Given the description of an element on the screen output the (x, y) to click on. 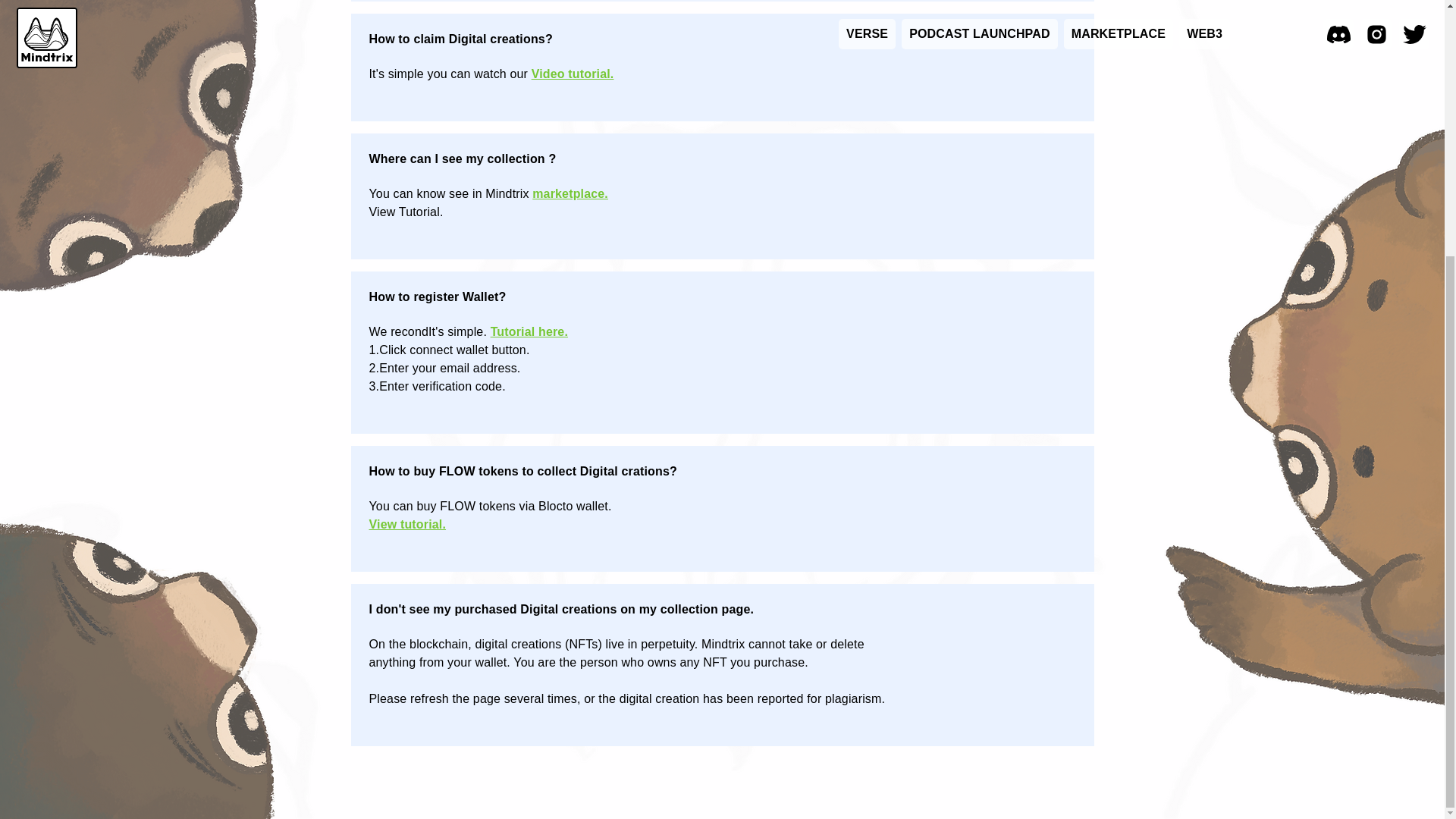
marketplace. (570, 193)
View tutorial. (406, 523)
Video tutorial. (572, 73)
Tutorial here. (528, 331)
